Given the description of an element on the screen output the (x, y) to click on. 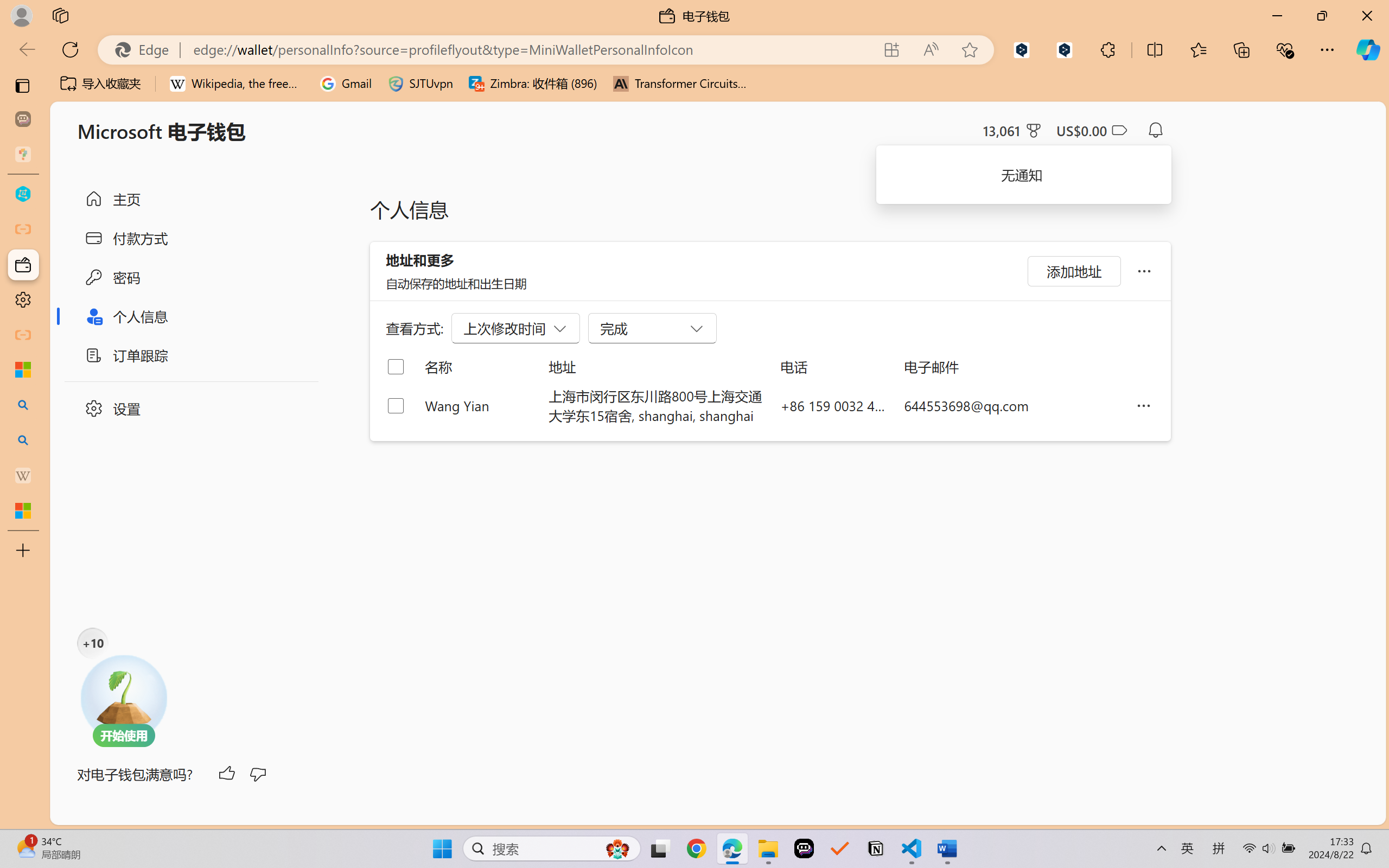
Microsoft security help and learning (22, 369)
Wang Yian (478, 405)
wangyian_dsw - DSW (22, 194)
